Given the description of an element on the screen output the (x, y) to click on. 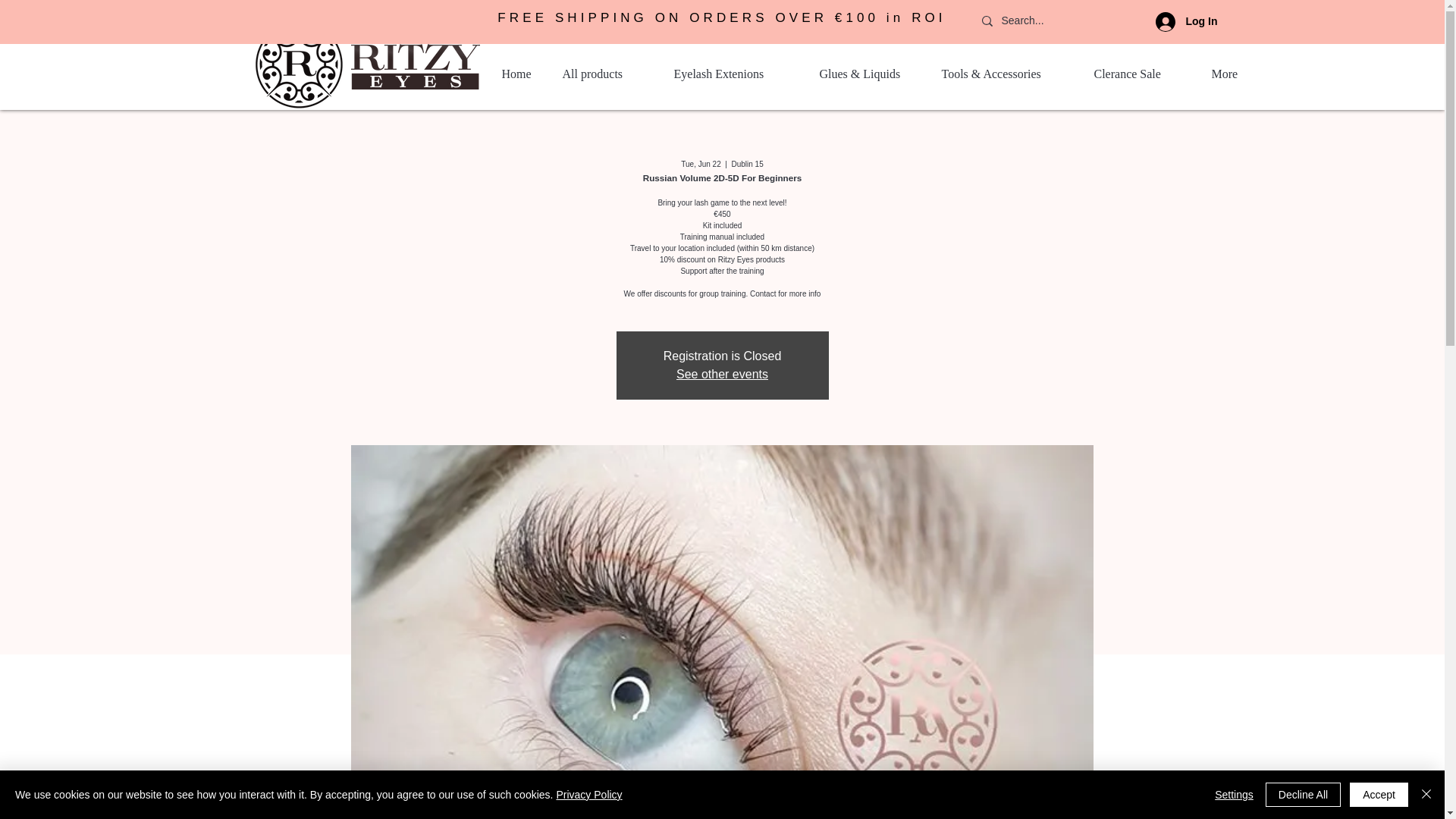
All products (605, 73)
Home (519, 73)
Clerance Sale (1141, 73)
See other events (722, 373)
Accept (1378, 794)
Decline All (1302, 794)
Log In (1186, 21)
Eyelash Extenions (735, 73)
Privacy Policy (588, 794)
